Given the description of an element on the screen output the (x, y) to click on. 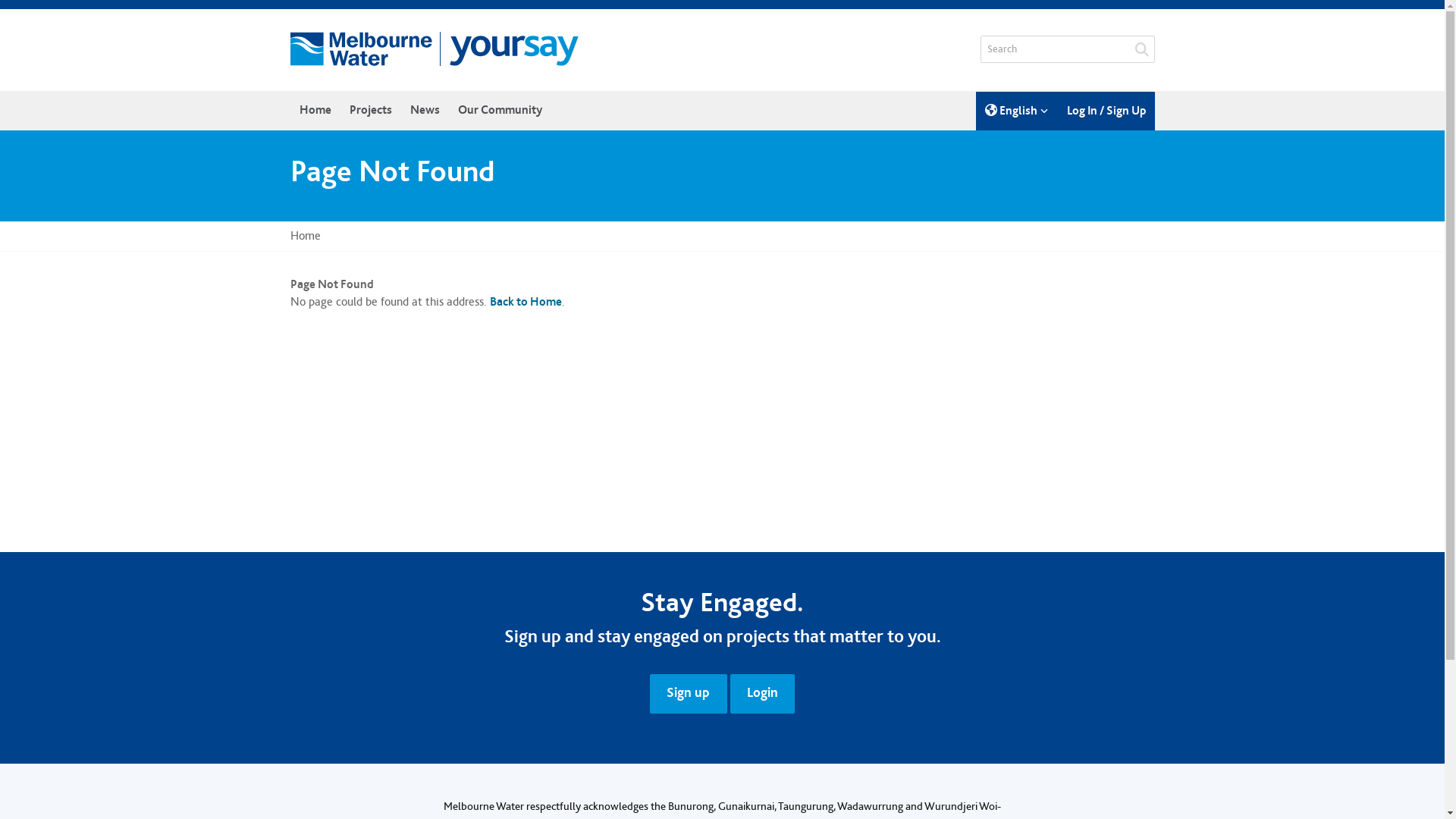
Sign up Element type: text (688, 694)
English Element type: text (1016, 110)
Our Community Element type: text (499, 110)
Submit Element type: text (1141, 49)
Home Element type: text (304, 235)
Home Element type: text (314, 110)
Back to Home Element type: text (525, 301)
Projects Element type: text (369, 110)
Log In / Sign Up Element type: text (1105, 110)
Login Element type: text (761, 694)
News Element type: text (424, 110)
